Given the description of an element on the screen output the (x, y) to click on. 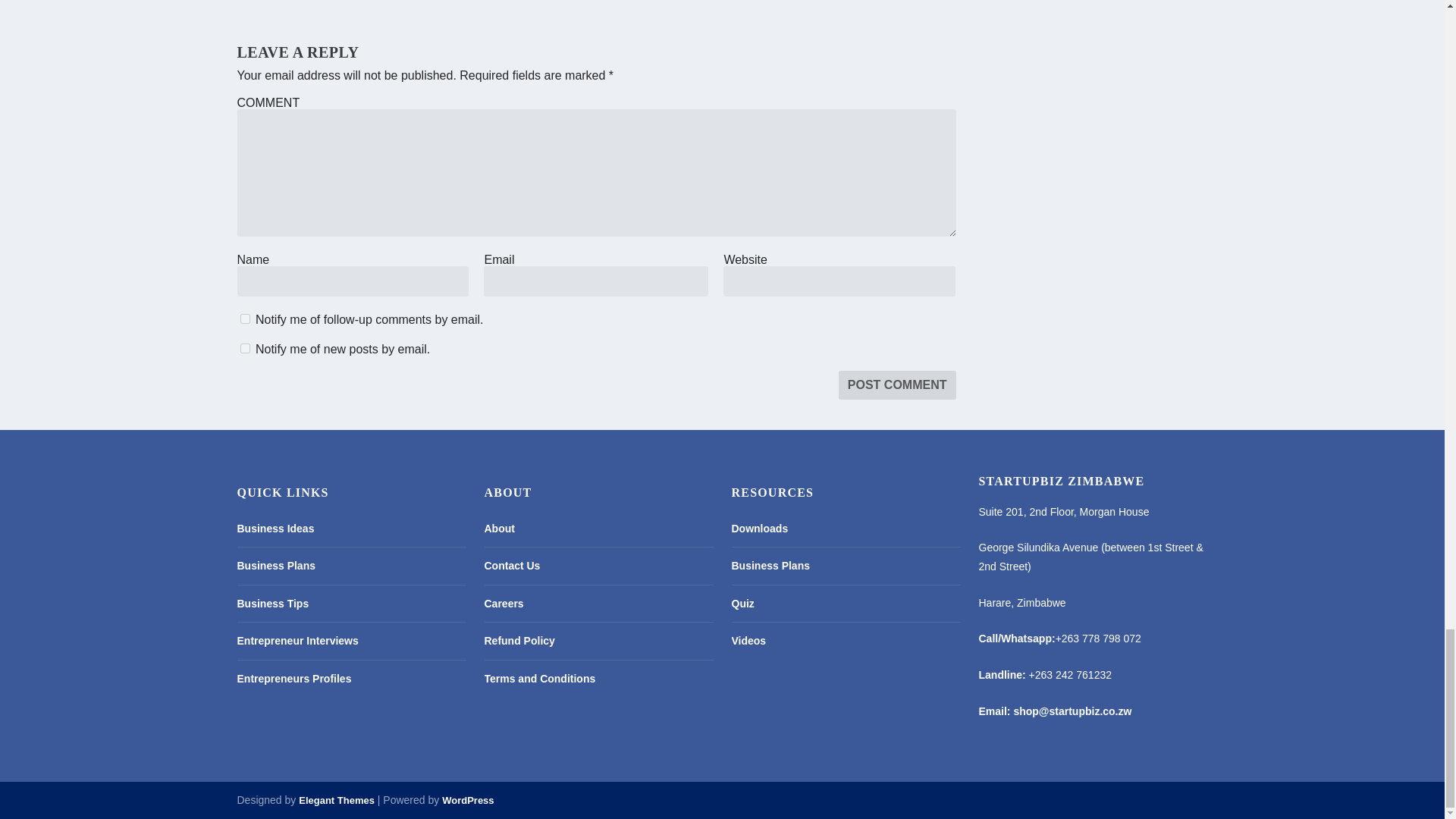
subscribe (244, 318)
Post Comment (897, 385)
subscribe (244, 347)
